Given the description of an element on the screen output the (x, y) to click on. 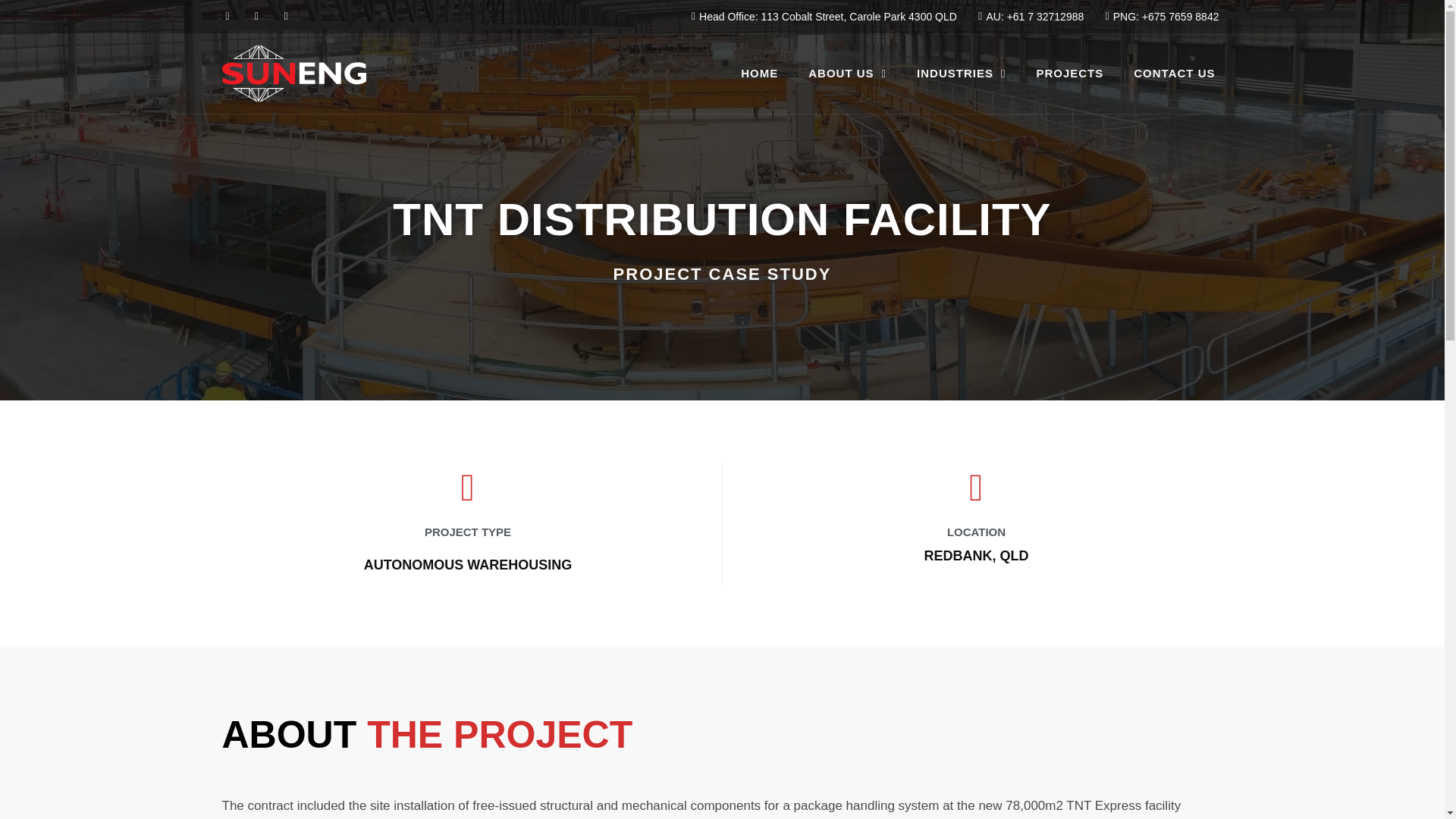
HOME (759, 72)
PROJECTS (1069, 72)
Head Office: 113 Cobalt Street, Carole Park 4300 QLD (819, 16)
INDUSTRIES (960, 72)
CONTACT US (1174, 72)
ABOUT US (847, 72)
AUTONOMOUS WAREHOUSING (468, 564)
